Given the description of an element on the screen output the (x, y) to click on. 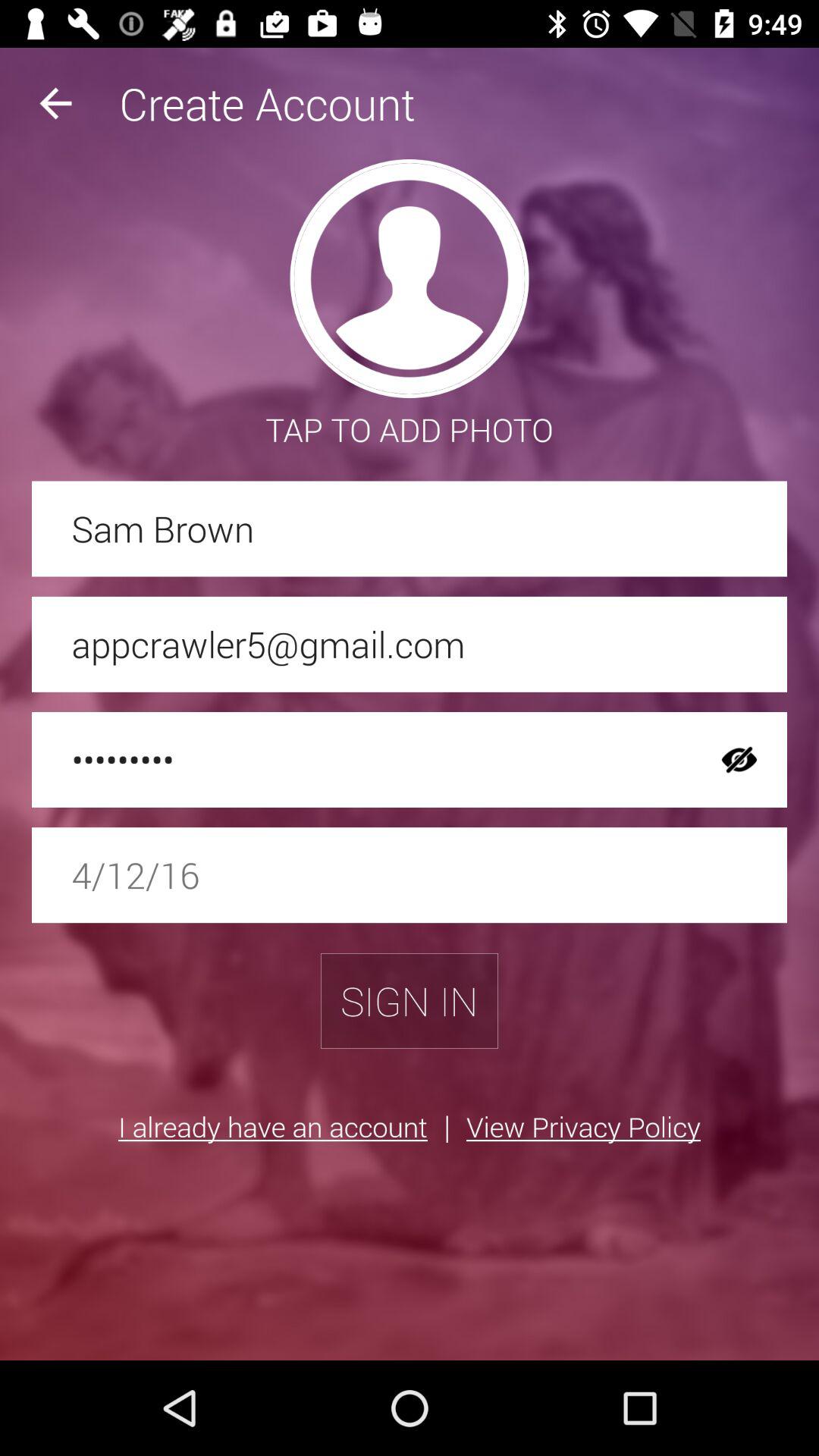
scroll until the view privacy policy (583, 1126)
